Given the description of an element on the screen output the (x, y) to click on. 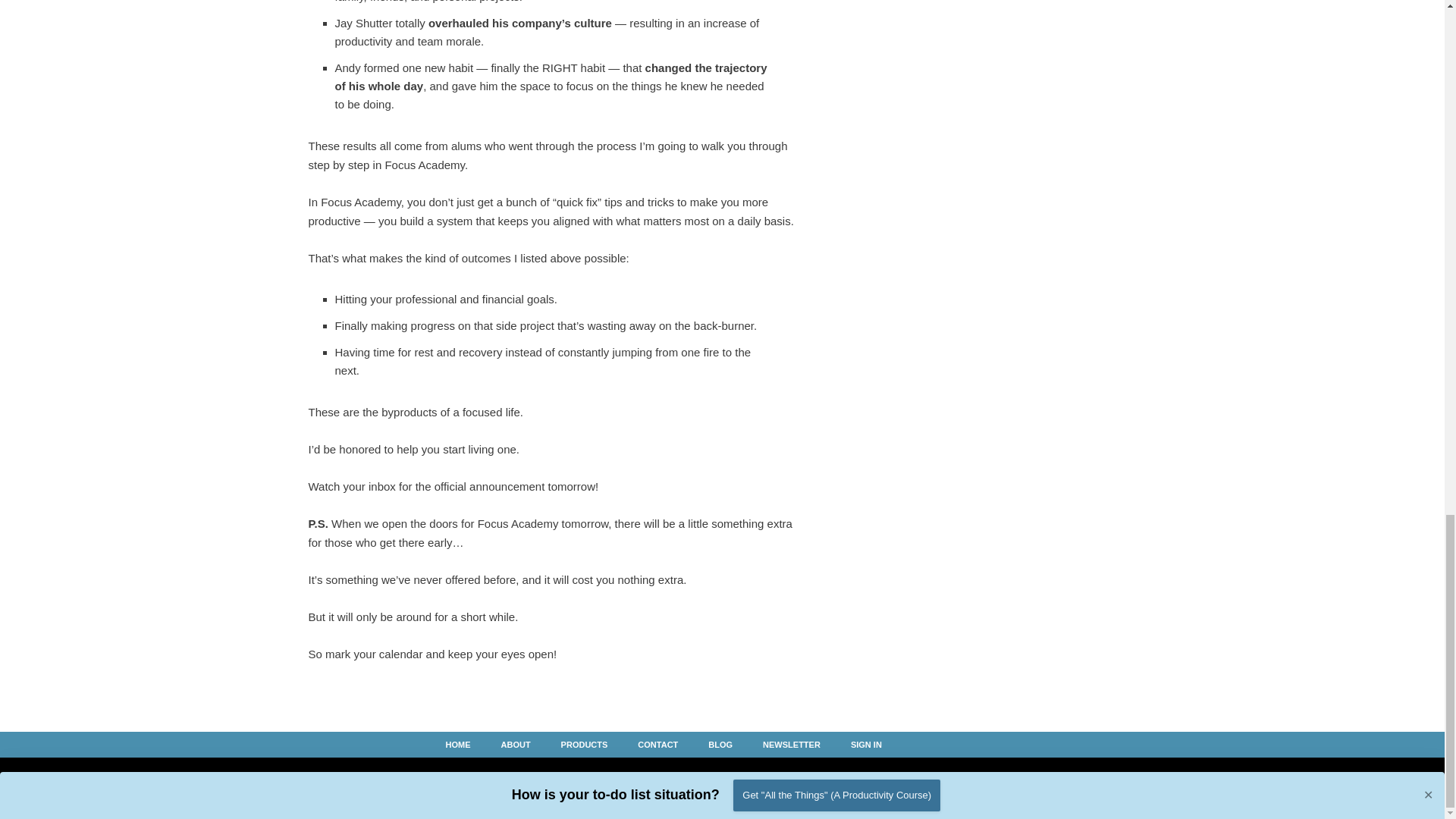
PRODUCTS (584, 744)
ABOUT (515, 744)
HOME (457, 744)
CONTACT (657, 744)
